Given the description of an element on the screen output the (x, y) to click on. 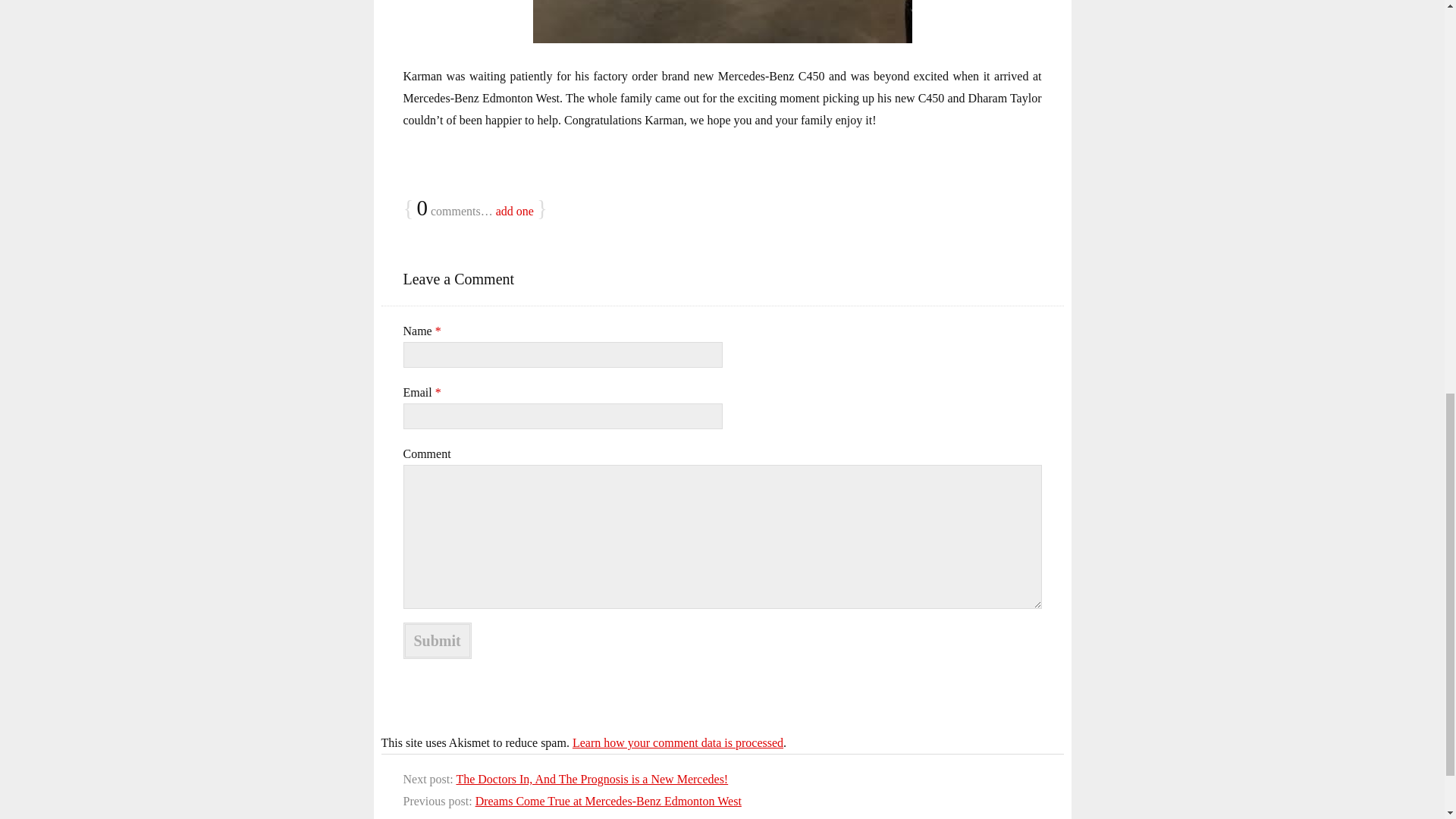
The Doctors In, And The Prognosis is a New Mercedes! (591, 779)
Dreams Come True at Mercedes-Benz Edmonton West (608, 800)
Please wait until Google reCAPTCHA is loaded. (437, 640)
Learn how your comment data is processed (677, 742)
Submit (437, 640)
Submit (437, 640)
add one (515, 210)
